Given the description of an element on the screen output the (x, y) to click on. 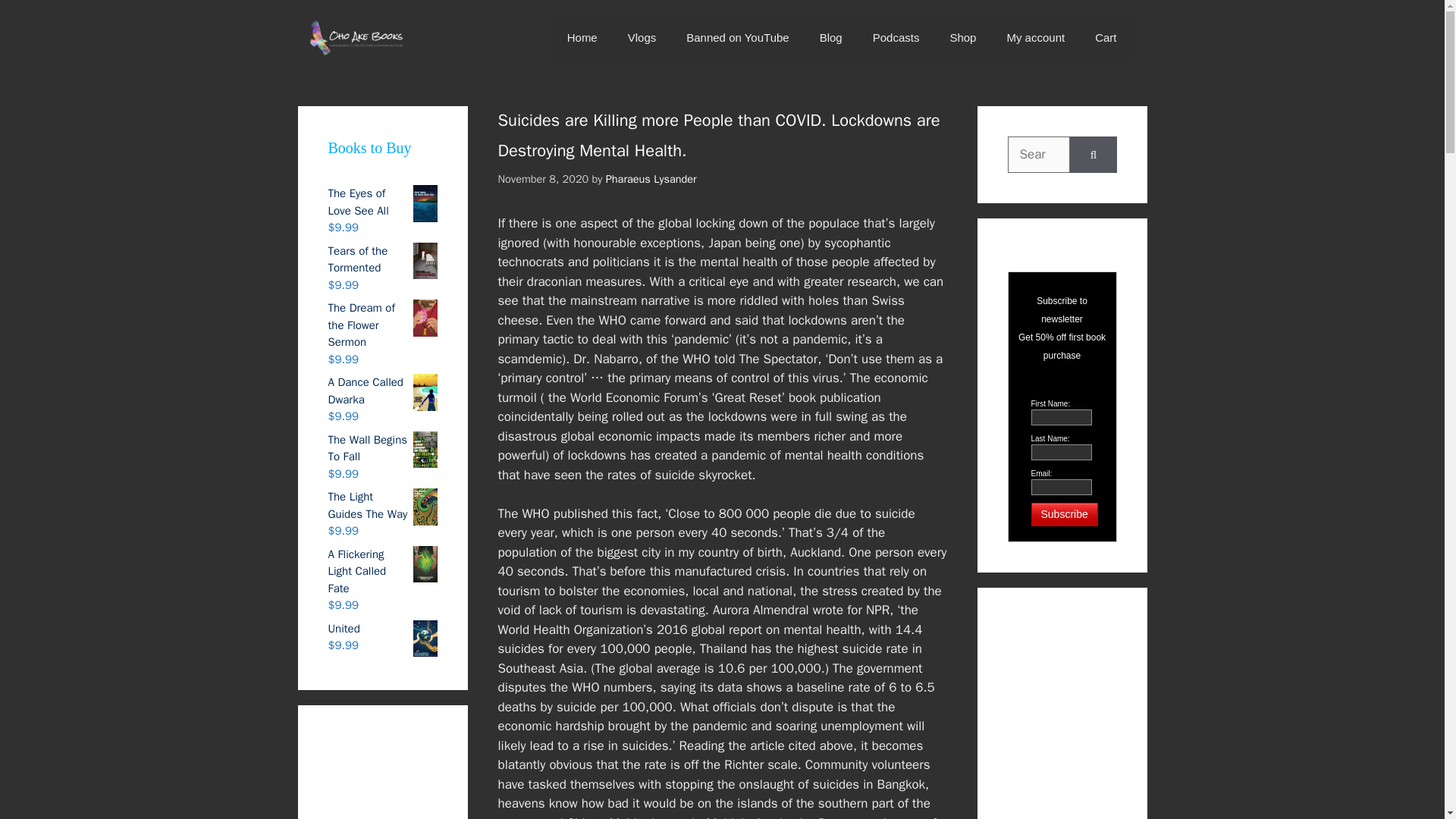
Cart (1105, 37)
Podcasts (895, 37)
Blog (831, 37)
14.4 suicides (709, 639)
Home (581, 37)
Search for: (1038, 154)
My account (1035, 37)
View all posts by Pharaeus Lysander (651, 178)
Advertisement (1113, 721)
Pharaeus Lysander (651, 178)
